Given the description of an element on the screen output the (x, y) to click on. 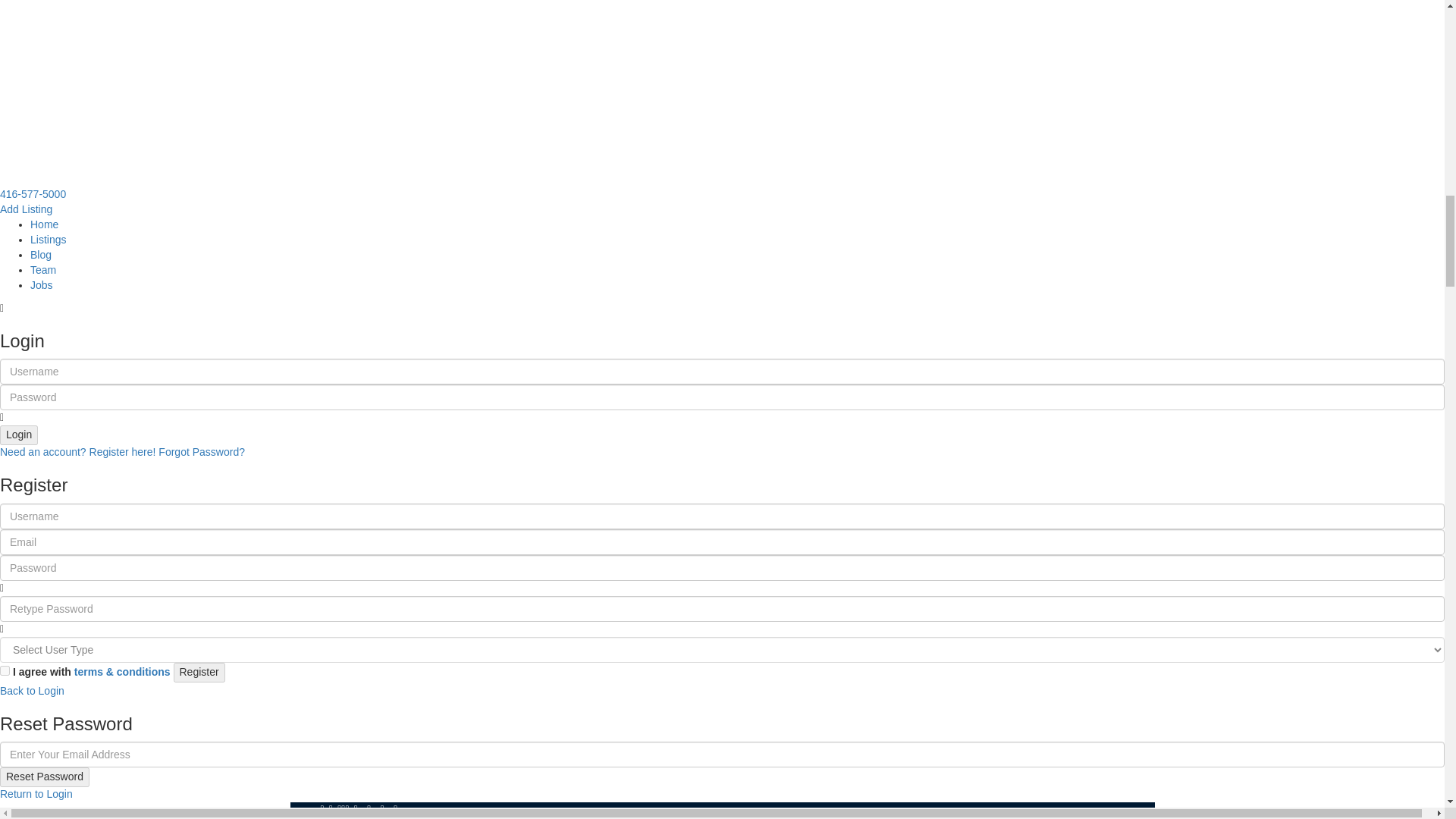
Blog (40, 254)
Jobs (41, 285)
Add Listing (26, 209)
416-577-5000 (32, 193)
Need an account? Register here! (77, 451)
Back to Login (32, 690)
Login (18, 435)
Return to Login (36, 793)
Register (198, 672)
Listings (47, 239)
Home (44, 224)
on (5, 670)
